Given the description of an element on the screen output the (x, y) to click on. 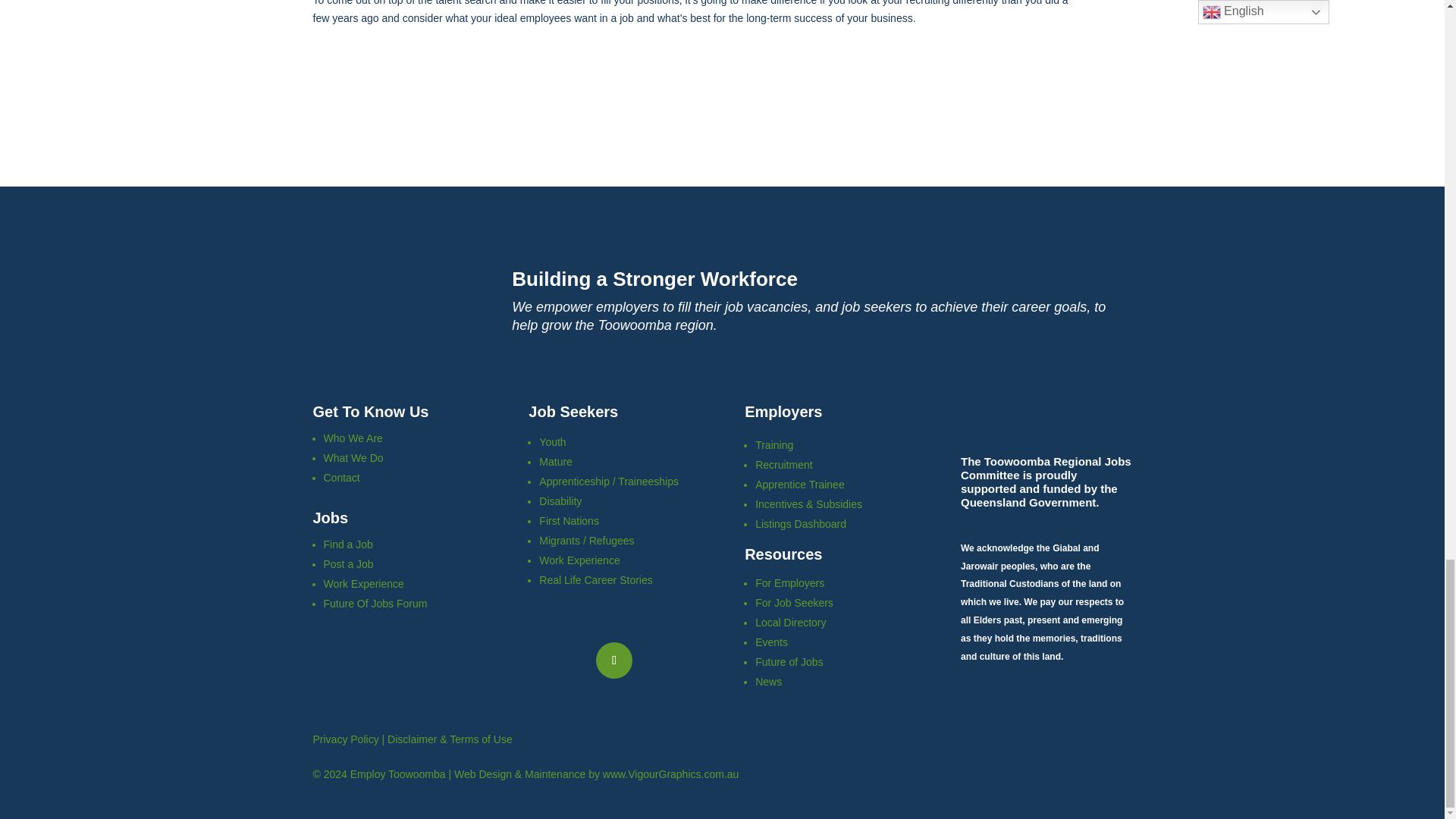
image (401, 304)
Follow on Facebook (613, 660)
